Given the description of an element on the screen output the (x, y) to click on. 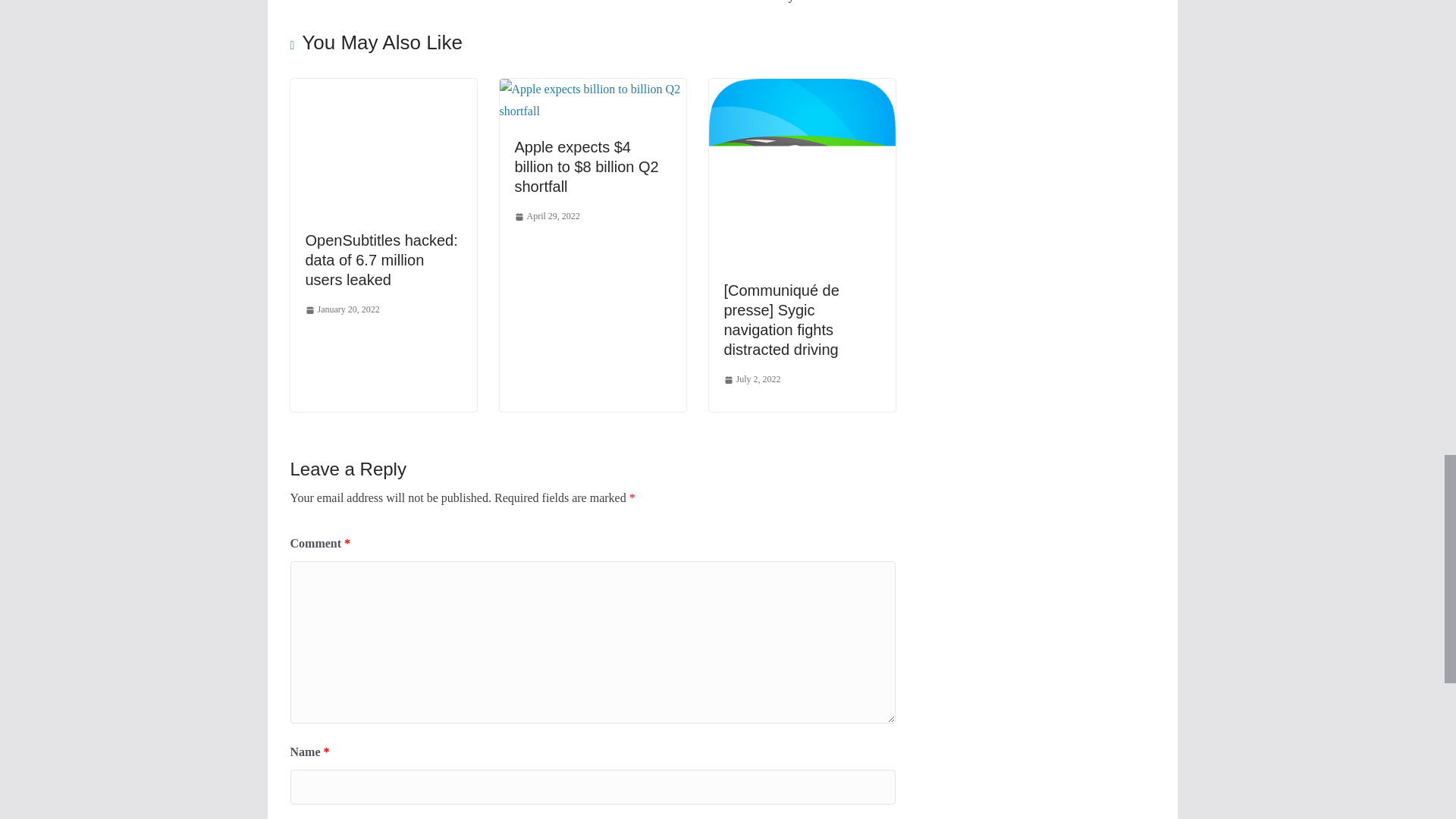
April 29, 2022 (546, 216)
OpenSubtitles hacked: data of 6.7 million users leaked (382, 146)
January 20, 2022 (341, 310)
OpenSubtitles hacked: data of 6.7 million users leaked (380, 259)
4:42 am (341, 310)
OpenSubtitles hacked: data of 6.7 million users leaked (382, 88)
OpenSubtitles hacked: data of 6.7 million users leaked (380, 259)
